Given the description of an element on the screen output the (x, y) to click on. 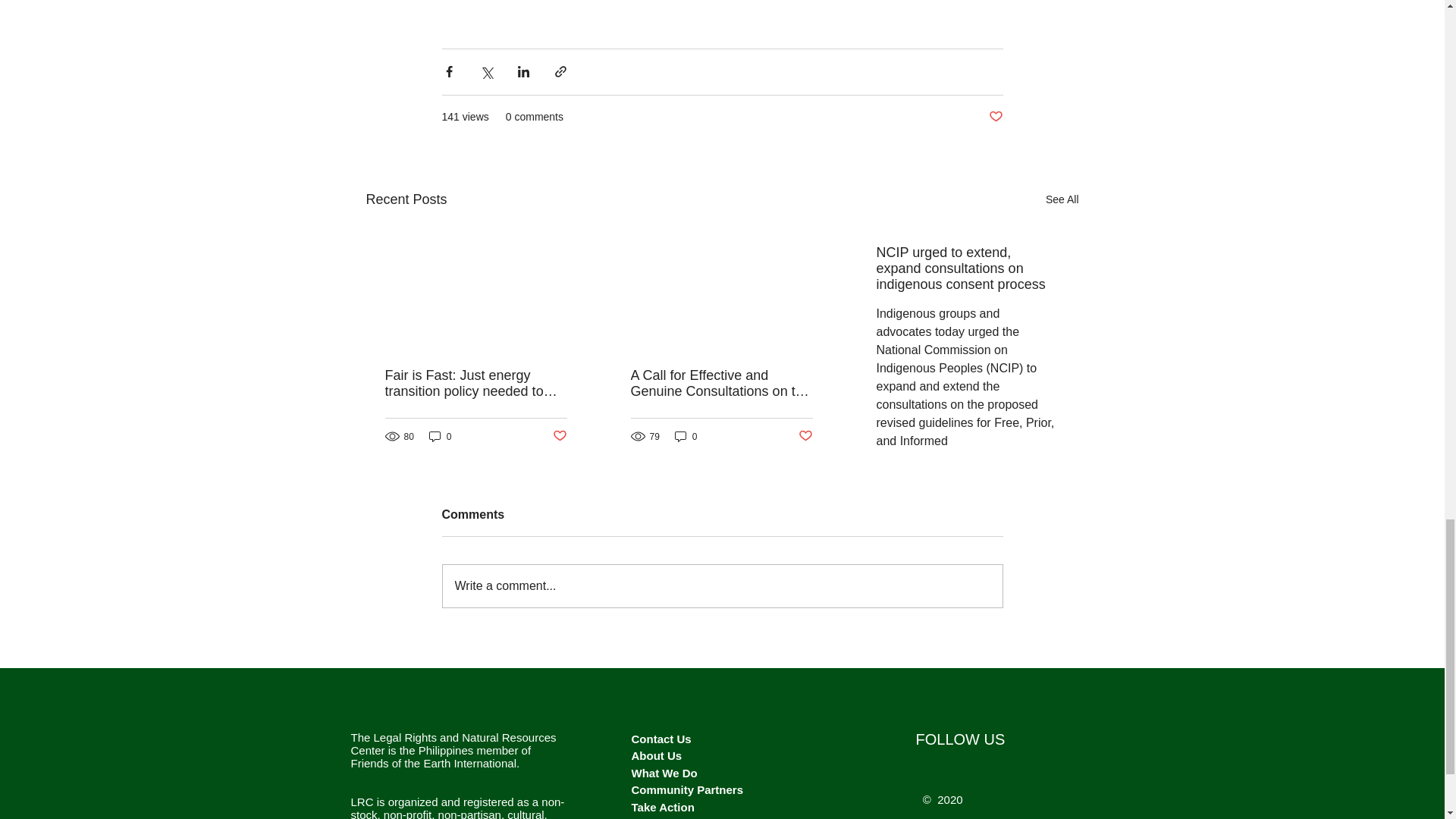
Post not marked as liked (995, 116)
See All (1061, 199)
Post not marked as liked (558, 436)
0 (440, 436)
